Given the description of an element on the screen output the (x, y) to click on. 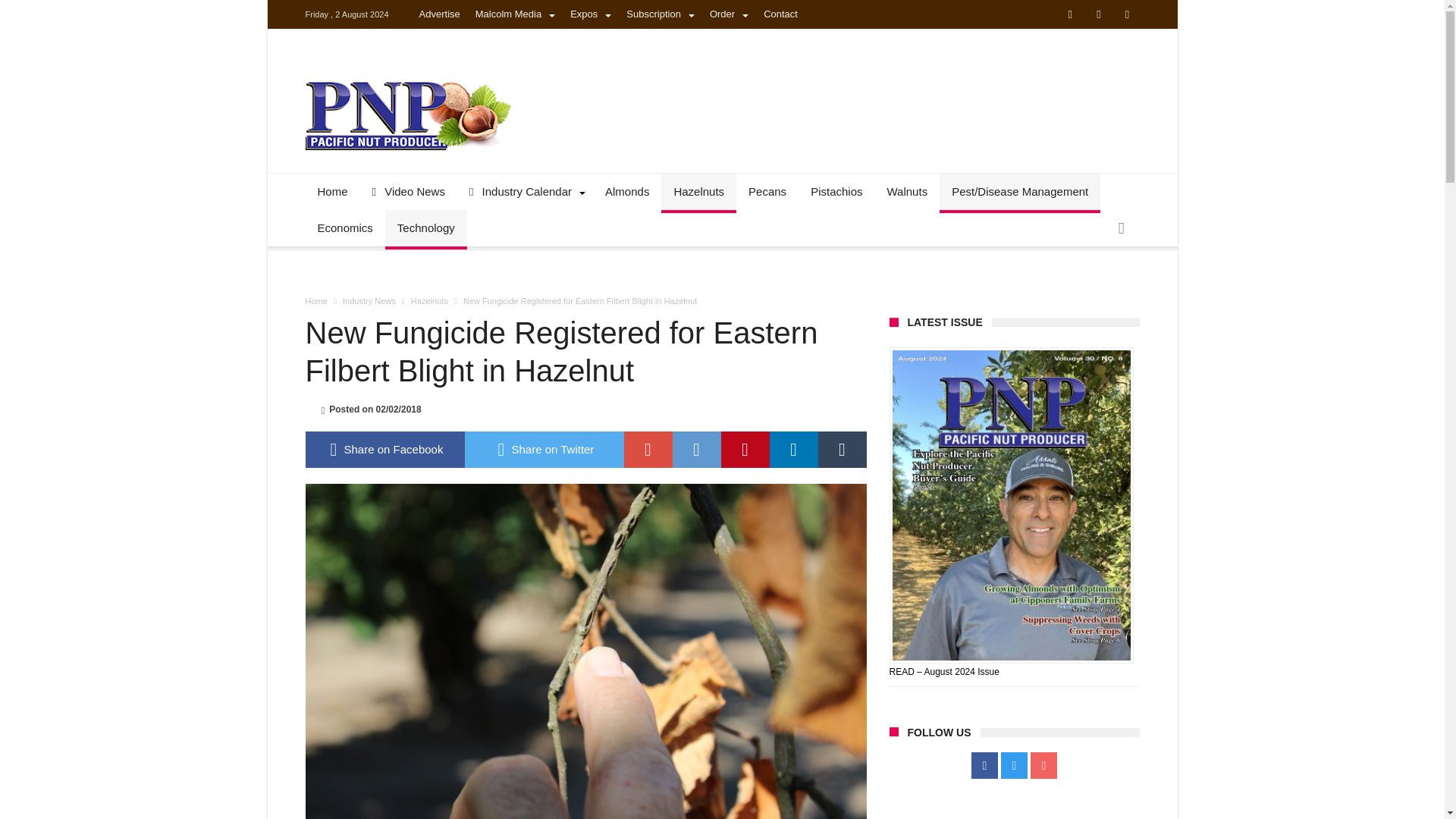
twitter (543, 449)
Youtube (1126, 15)
google (647, 449)
Facebook (1069, 15)
Twitter (1098, 15)
linkedin (792, 449)
Pacific Nut Producer Magazine (407, 81)
facebook (384, 449)
pinterest (744, 449)
tumblr (841, 449)
Malcolm Media (514, 14)
Advertise (439, 14)
Facebook (984, 766)
reddit (695, 449)
